Given the description of an element on the screen output the (x, y) to click on. 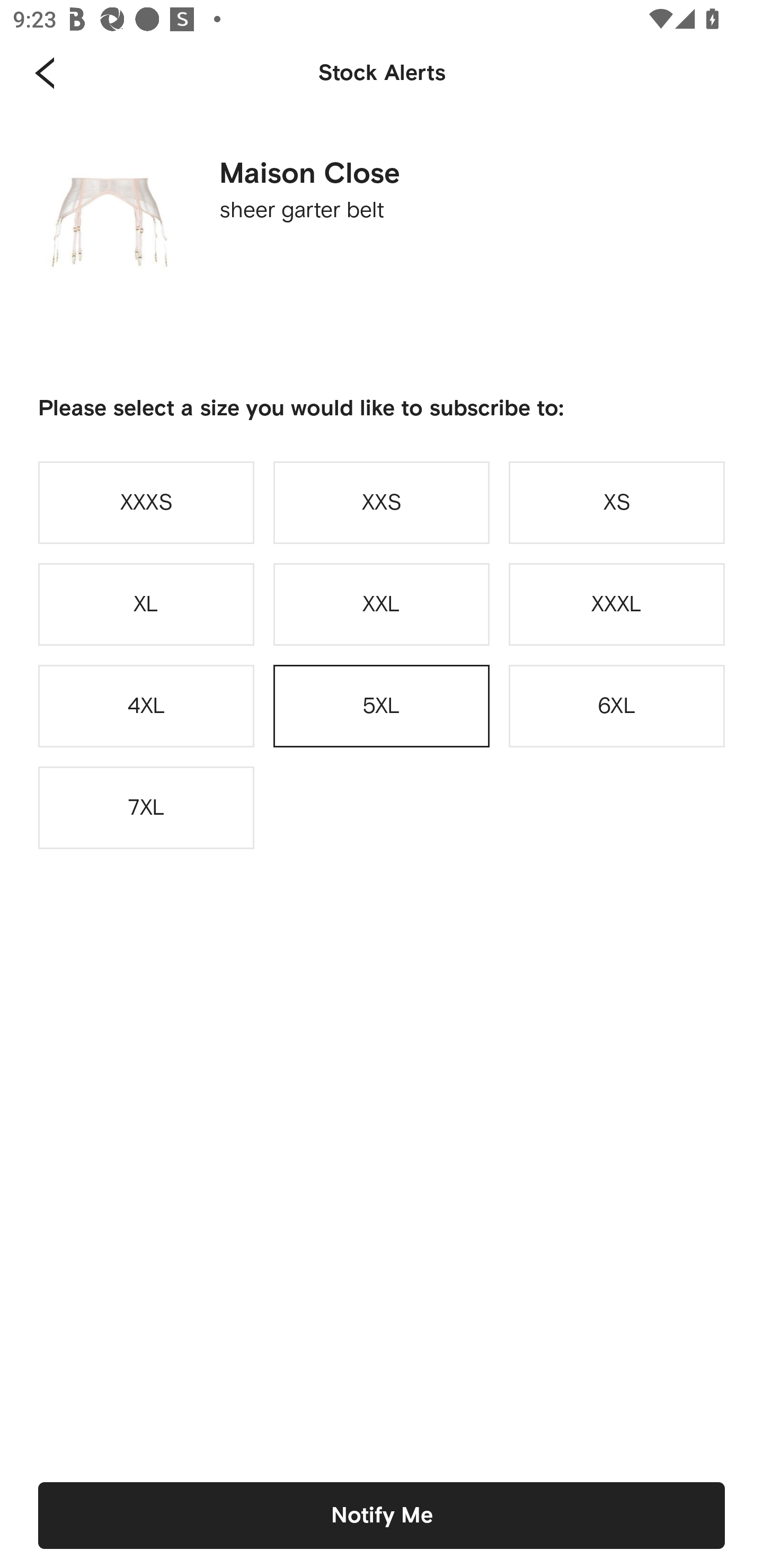
XXXS (146, 502)
XXS (381, 502)
XS (616, 502)
XL (146, 604)
XXL (381, 604)
XXXL (616, 604)
4XL (146, 705)
5XL (381, 705)
6XL (616, 705)
7XL (146, 807)
Notify Me (381, 1515)
